Given the description of an element on the screen output the (x, y) to click on. 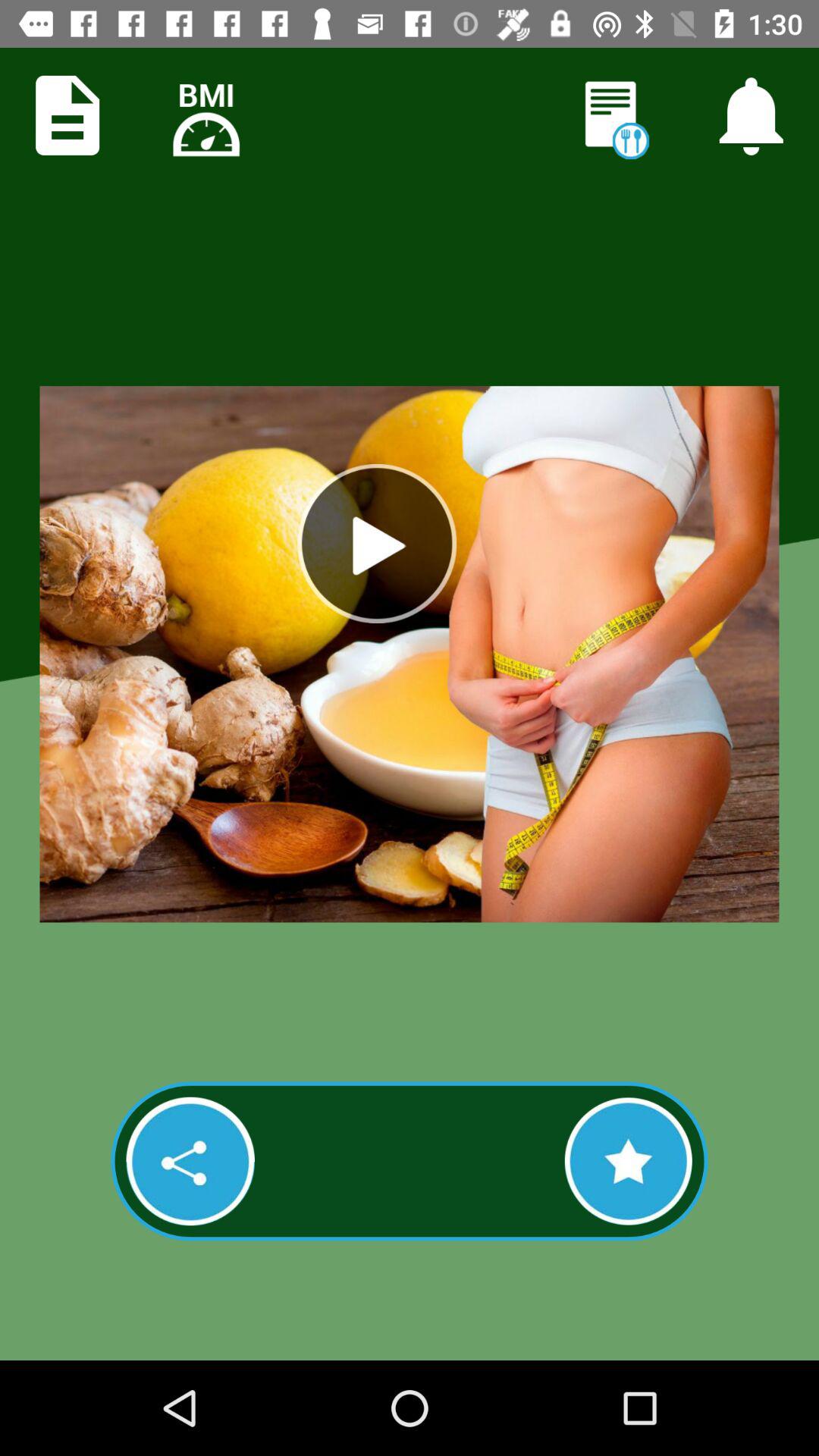
go to favirate (628, 1161)
